Given the description of an element on the screen output the (x, y) to click on. 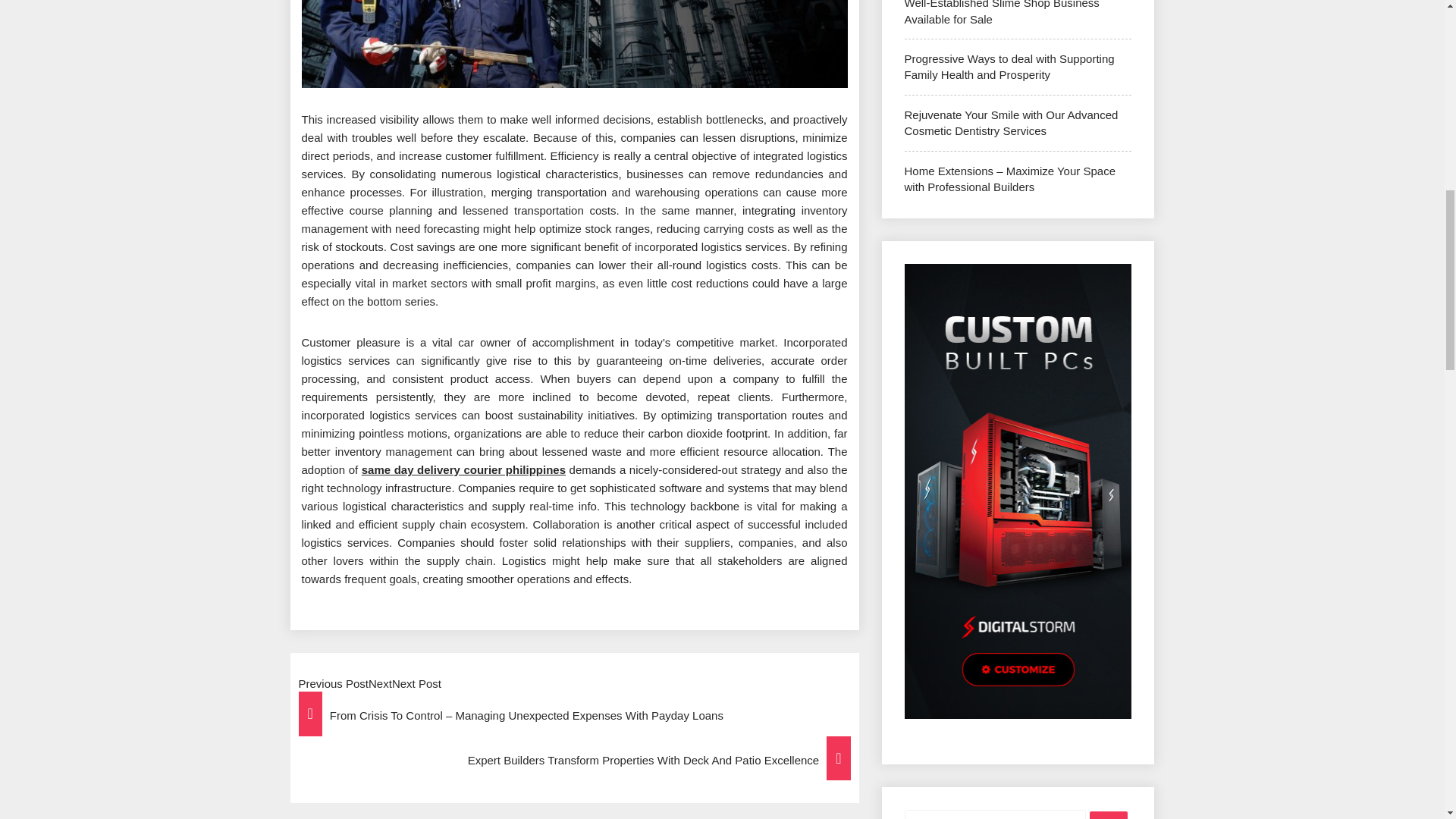
Well-Established Slime Shop Business Available for Sale (1001, 12)
same day delivery courier philippines (463, 469)
Search (1107, 815)
